Given the description of an element on the screen output the (x, y) to click on. 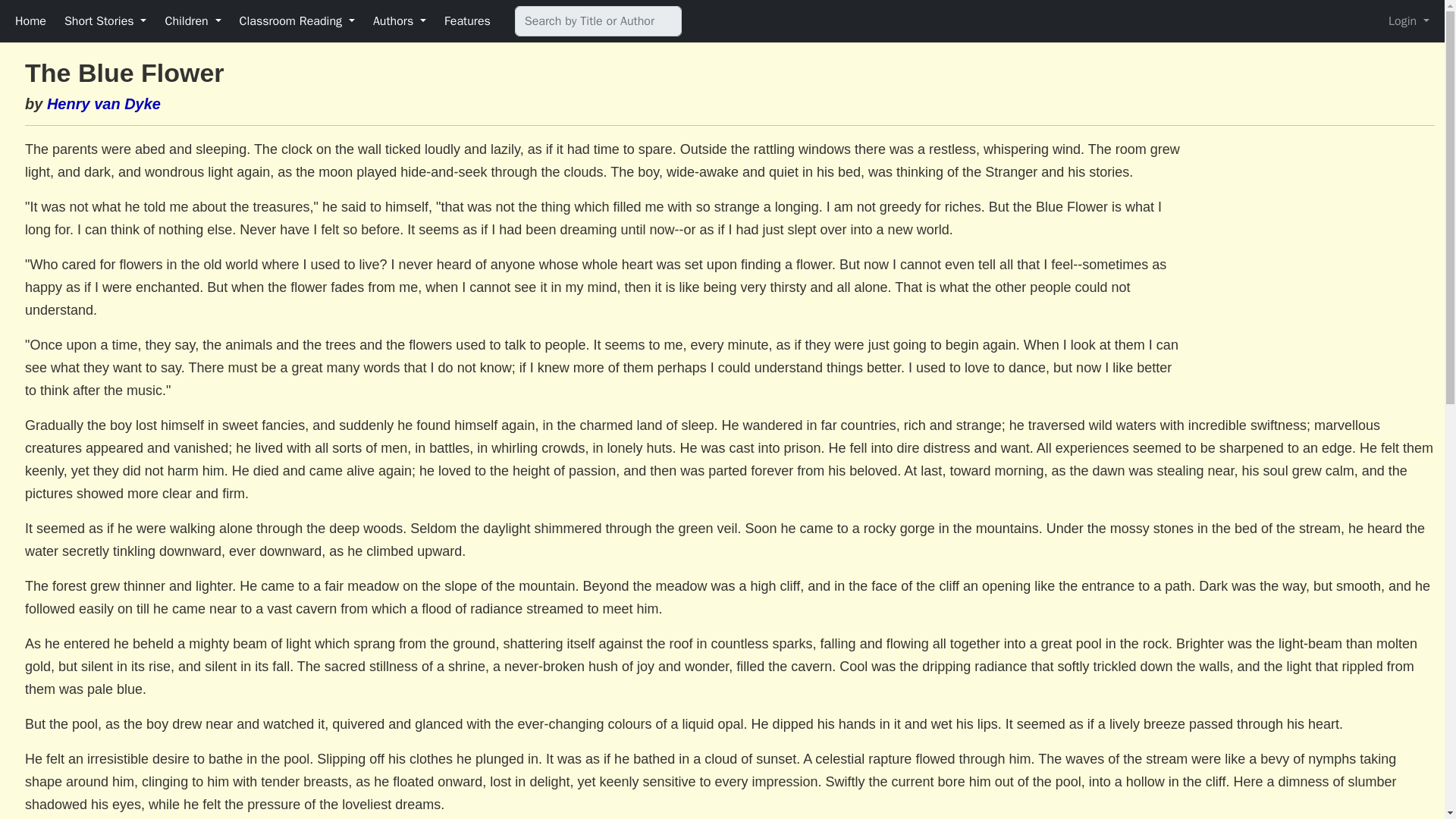
Children (192, 20)
Short Stories (105, 20)
Advertisement (1306, 253)
Home (30, 20)
